Given the description of an element on the screen output the (x, y) to click on. 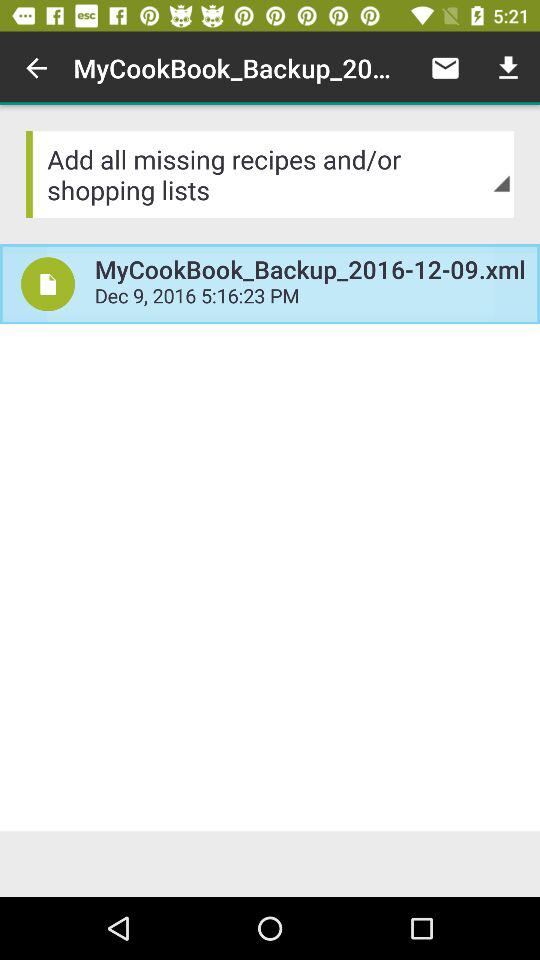
open the item next to mycookbook_backup_2016 12 09 (48, 284)
